Given the description of an element on the screen output the (x, y) to click on. 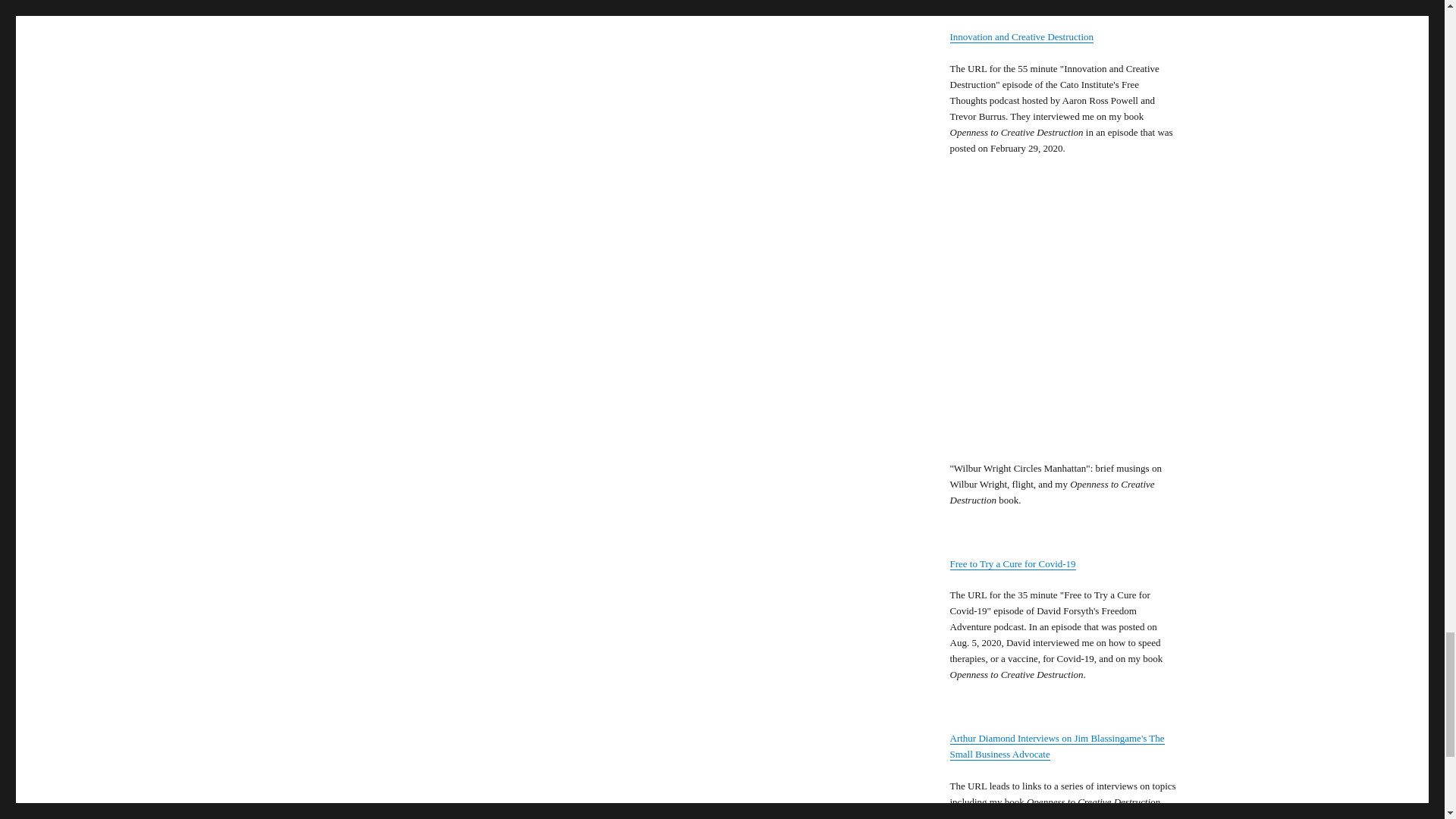
Innovation and Creative Destruction (1021, 36)
Free to Try a Cure for Covid-19 (1012, 563)
